Given the description of an element on the screen output the (x, y) to click on. 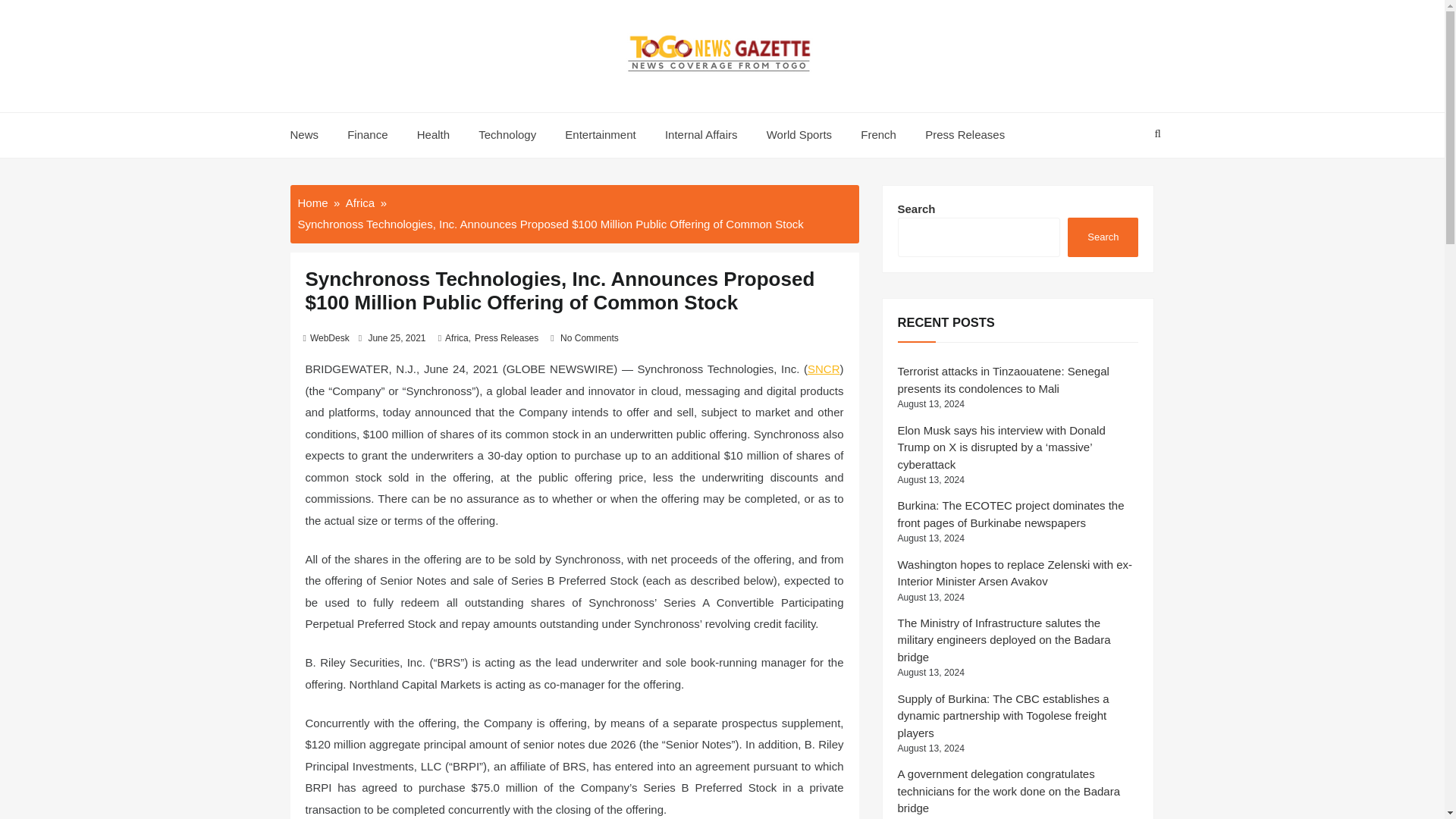
French (877, 135)
June 25, 2021 (396, 337)
Technology (506, 135)
Health (433, 135)
Africa (360, 201)
WebDesk (329, 337)
Africa (456, 337)
No Comments (589, 337)
SNCR (824, 368)
Press Releases (506, 337)
